Given the description of an element on the screen output the (x, y) to click on. 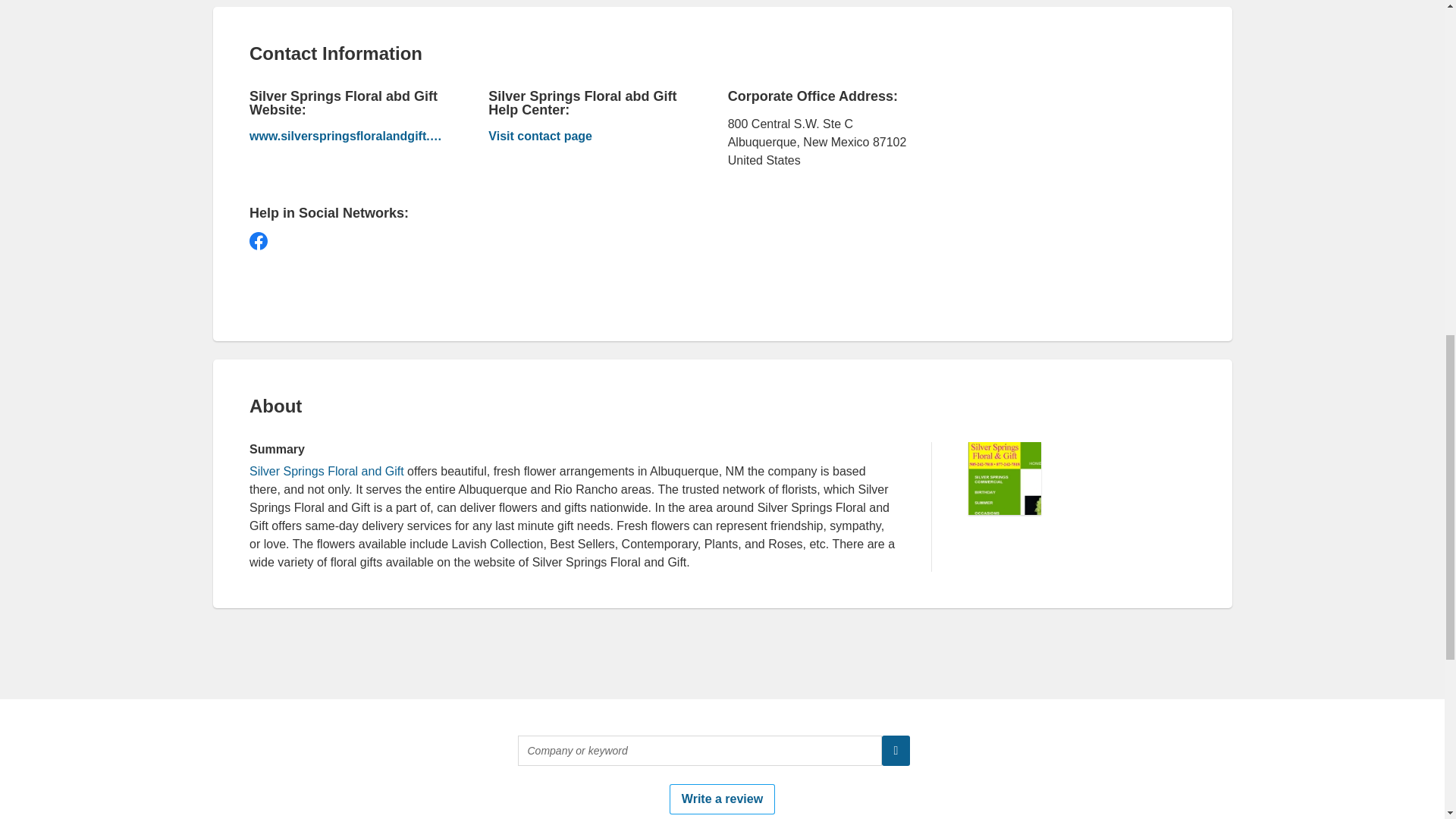
Silver Springs Floral abd Gift (345, 136)
Visit contact page (584, 137)
Write a review (721, 798)
Facebook link (257, 240)
Facebook (257, 240)
Silver Springs Floral abd Gift (584, 137)
www.silverspringsfloralandgift.com (345, 136)
Silver Springs Floral and Gift (325, 471)
